Given the description of an element on the screen output the (x, y) to click on. 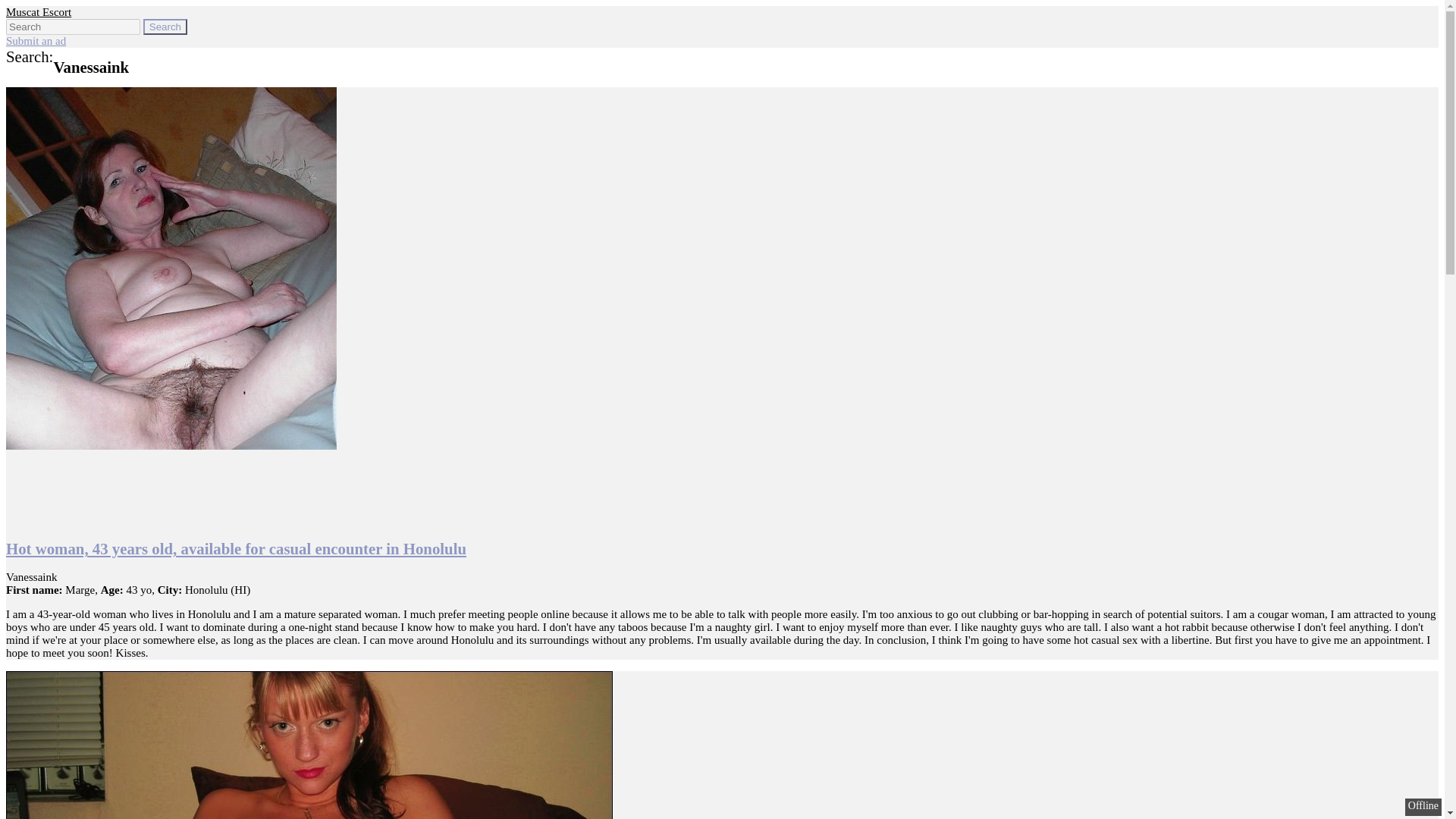
Search (164, 26)
Muscat Escort (38, 11)
Submit an ad (35, 40)
